Given the description of an element on the screen output the (x, y) to click on. 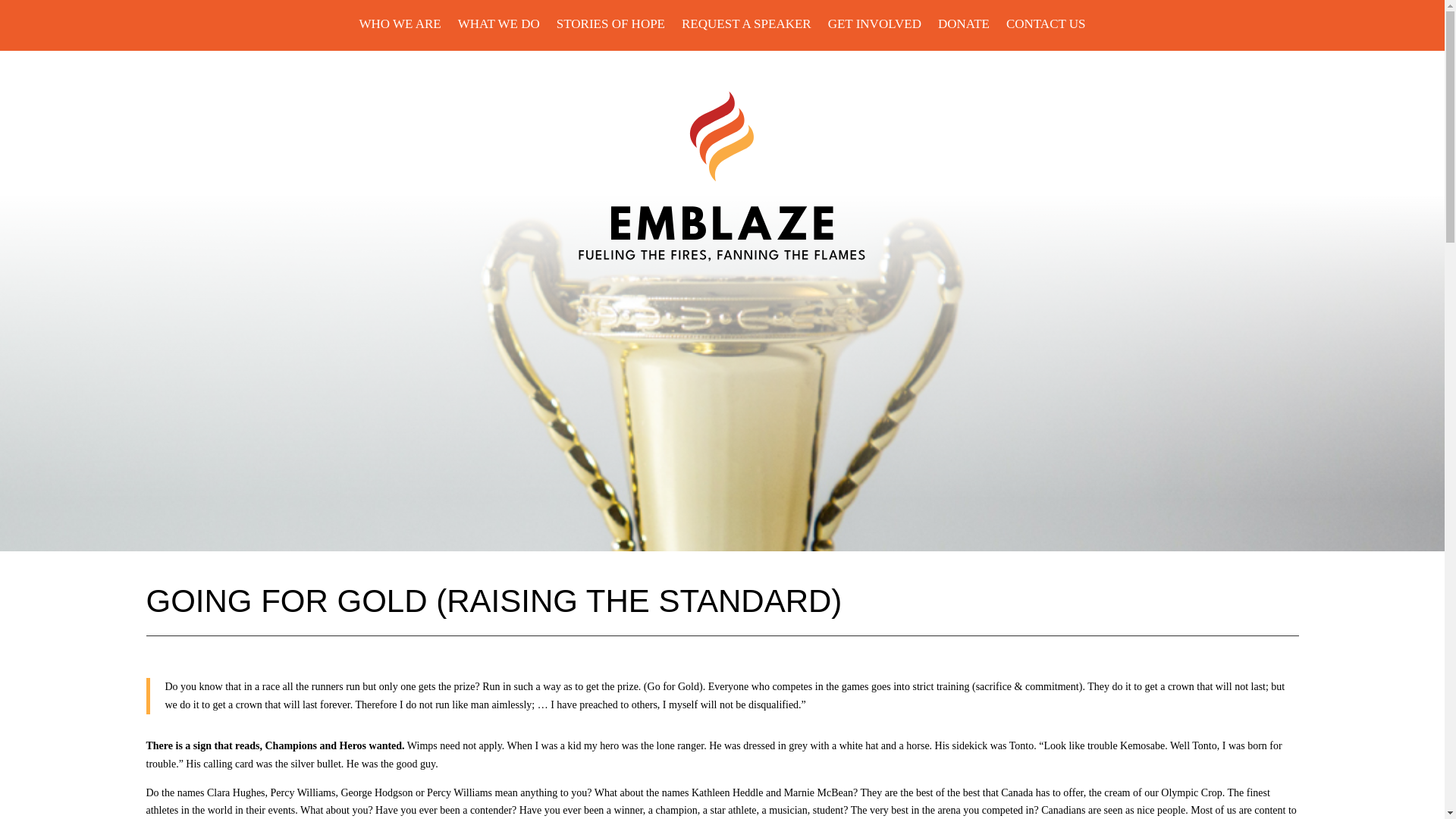
DONATE (963, 27)
GET INVOLVED (874, 27)
STORIES OF HOPE (610, 27)
WHAT WE DO (499, 27)
Emblaze Logo - Standard Color - Bold Tagline (721, 176)
WHO WE ARE (399, 27)
REQUEST A SPEAKER (745, 27)
CONTACT US (1046, 27)
